Given the description of an element on the screen output the (x, y) to click on. 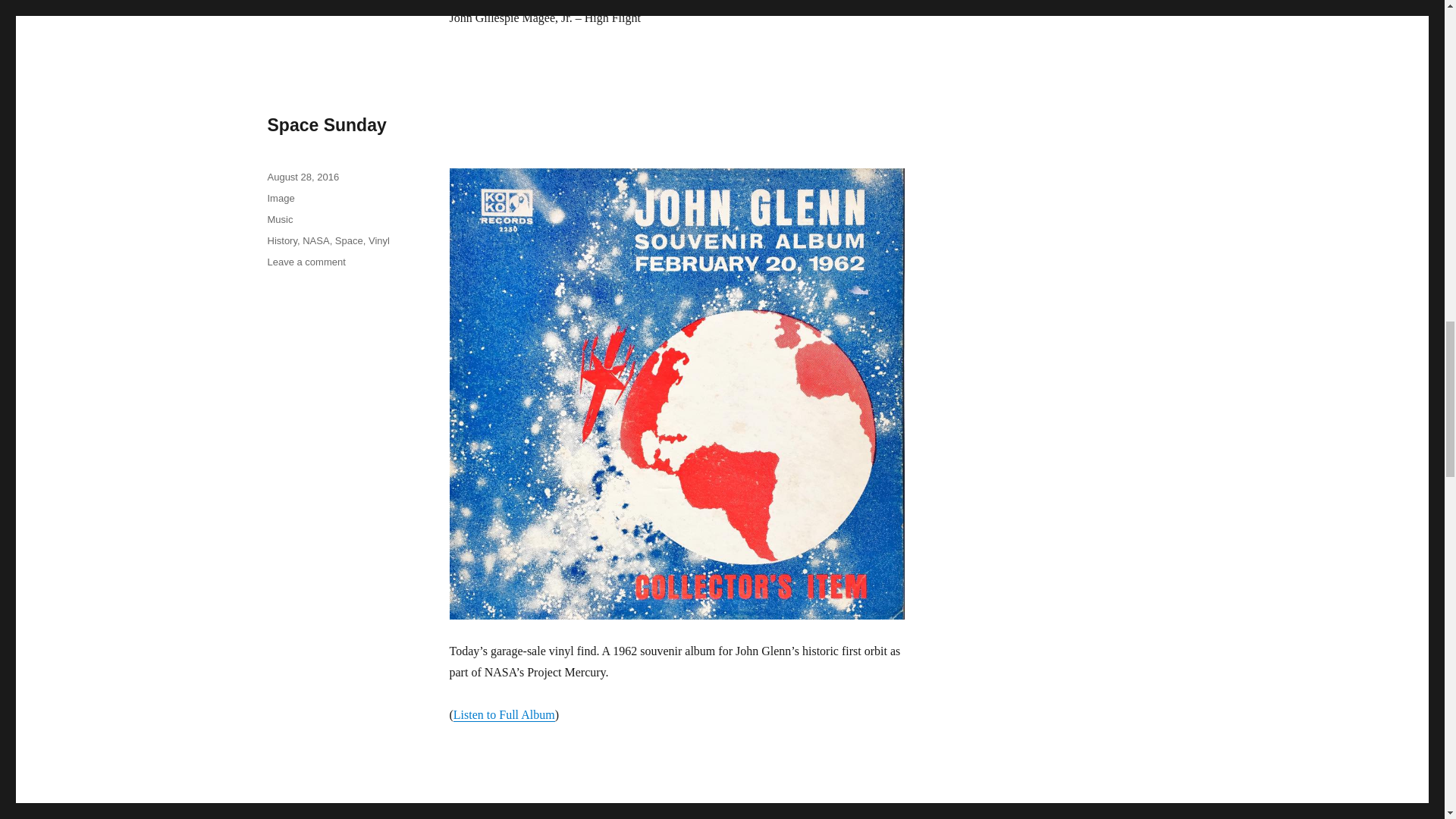
Image (280, 197)
Vinyl (379, 240)
Space Sunday (325, 125)
Space (305, 261)
Strings for a Space Age (348, 240)
History (364, 815)
NASA (281, 240)
Music (315, 240)
August 28, 2016 (279, 219)
Listen to Full Album (302, 176)
